Given the description of an element on the screen output the (x, y) to click on. 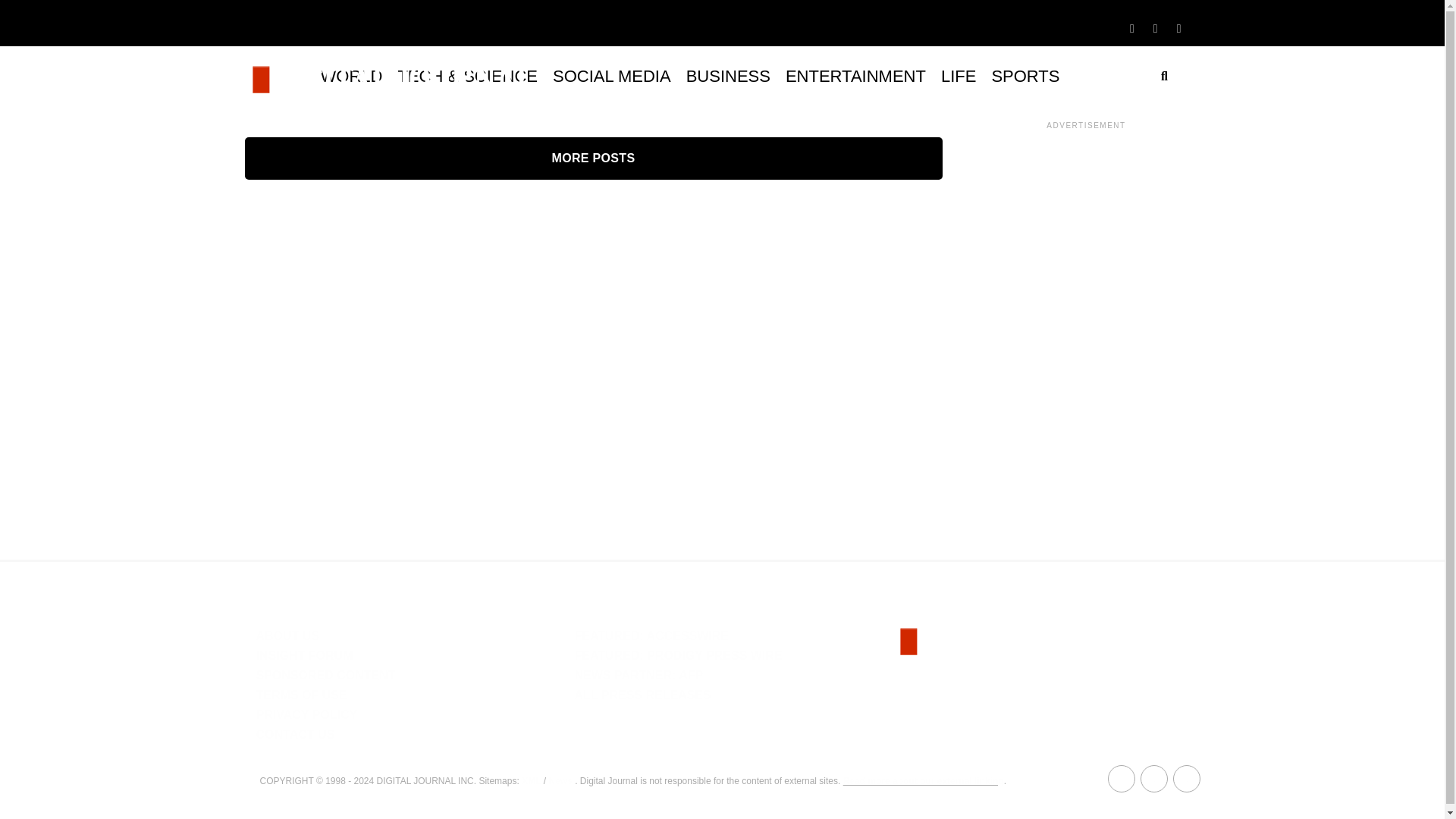
ENTERTAINMENT (855, 76)
FEATURED: ACCESSWIRE (651, 635)
ALL PRESS RELEASES (641, 694)
NEWS PARTNER: AFP (638, 675)
BUSINESS (727, 76)
WORLD (351, 76)
XML (530, 779)
News (560, 779)
PRIVACY POLICY (307, 714)
Read more about our external linking (923, 779)
